Given the description of an element on the screen output the (x, y) to click on. 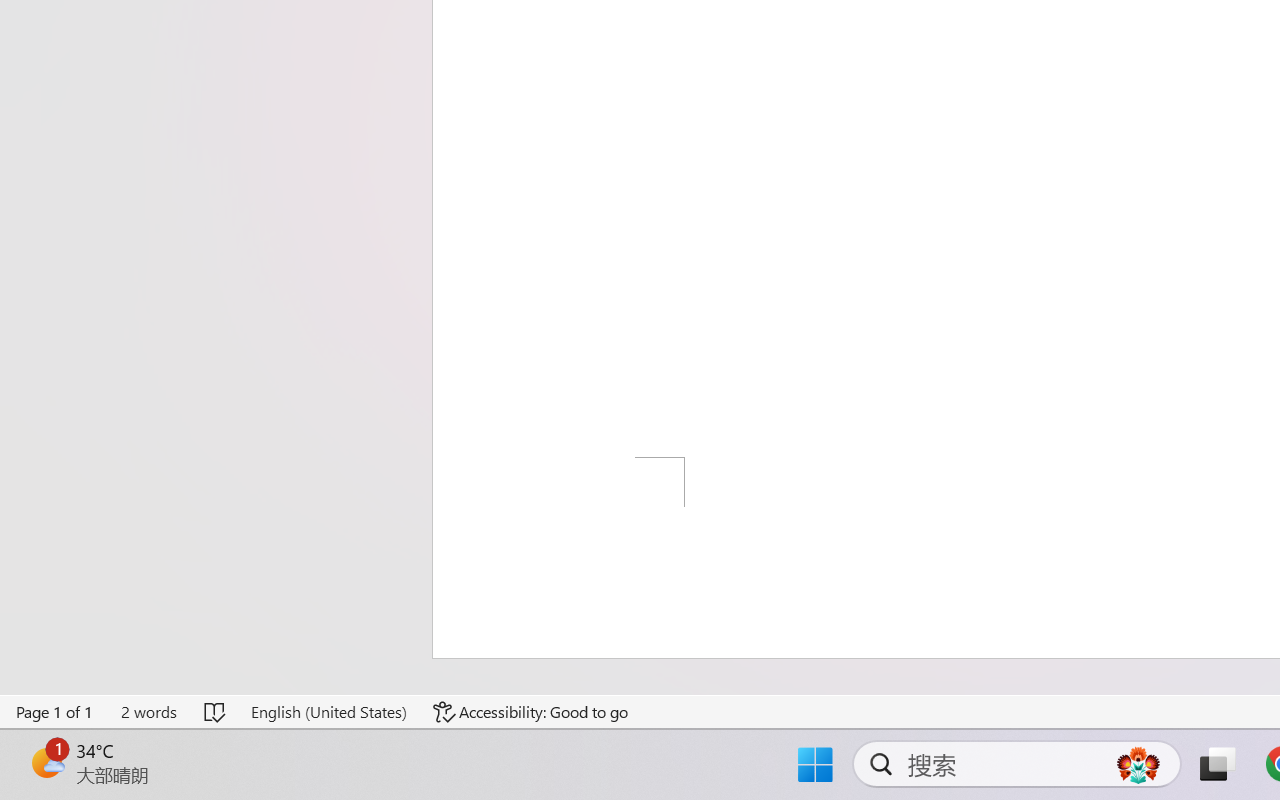
Language English (United States) (328, 712)
AutomationID: DynamicSearchBoxGleamImage (1138, 764)
AutomationID: BadgeAnchorLargeTicker (46, 762)
Spelling and Grammar Check No Errors (216, 712)
Page Number Page 1 of 1 (55, 712)
Accessibility Checker Accessibility: Good to go (531, 712)
